Given the description of an element on the screen output the (x, y) to click on. 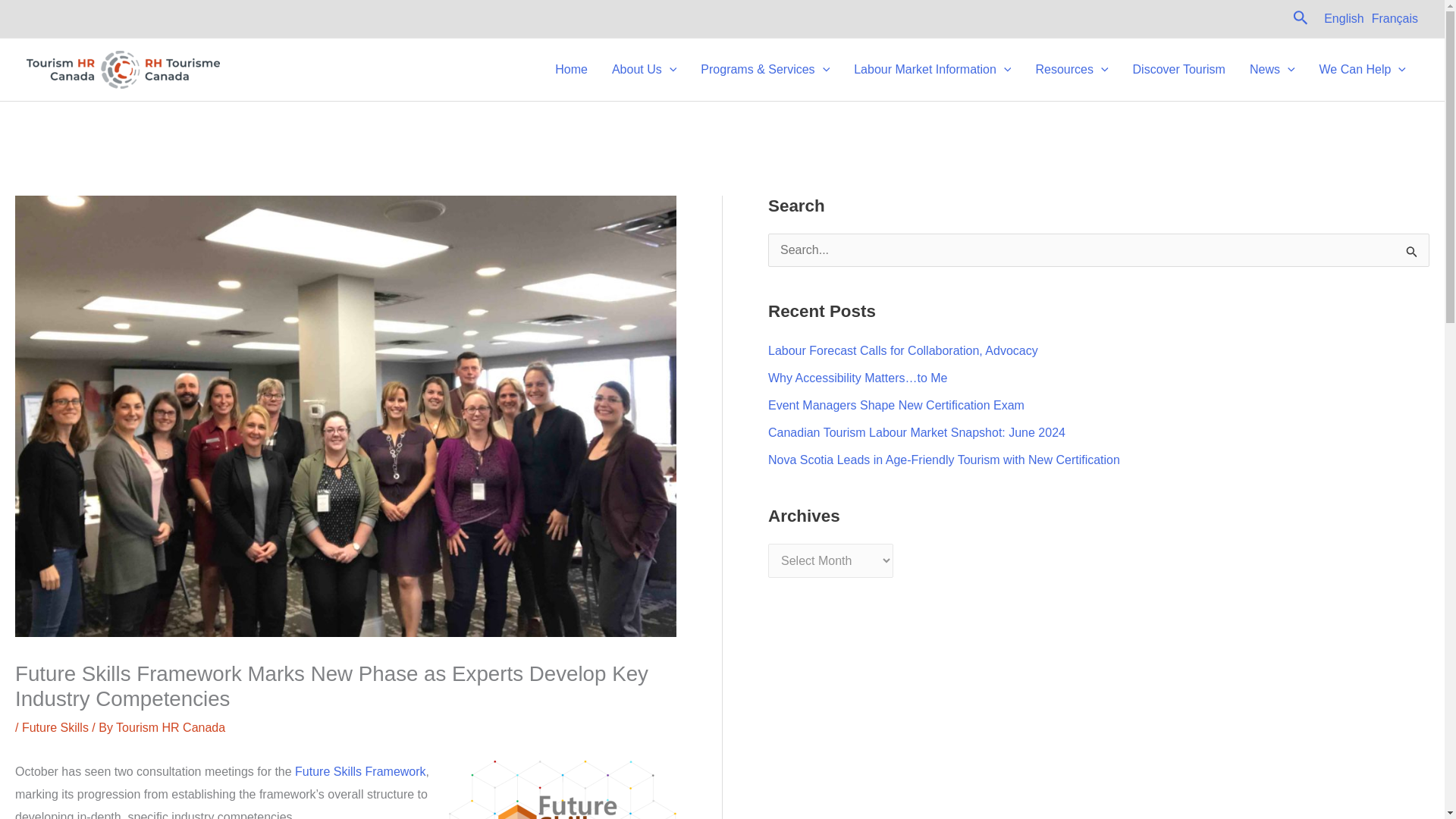
Home (571, 69)
About Us (643, 69)
View all posts by Tourism HR Canada (170, 727)
Labour Market Information (932, 69)
English (1342, 18)
